Given the description of an element on the screen output the (x, y) to click on. 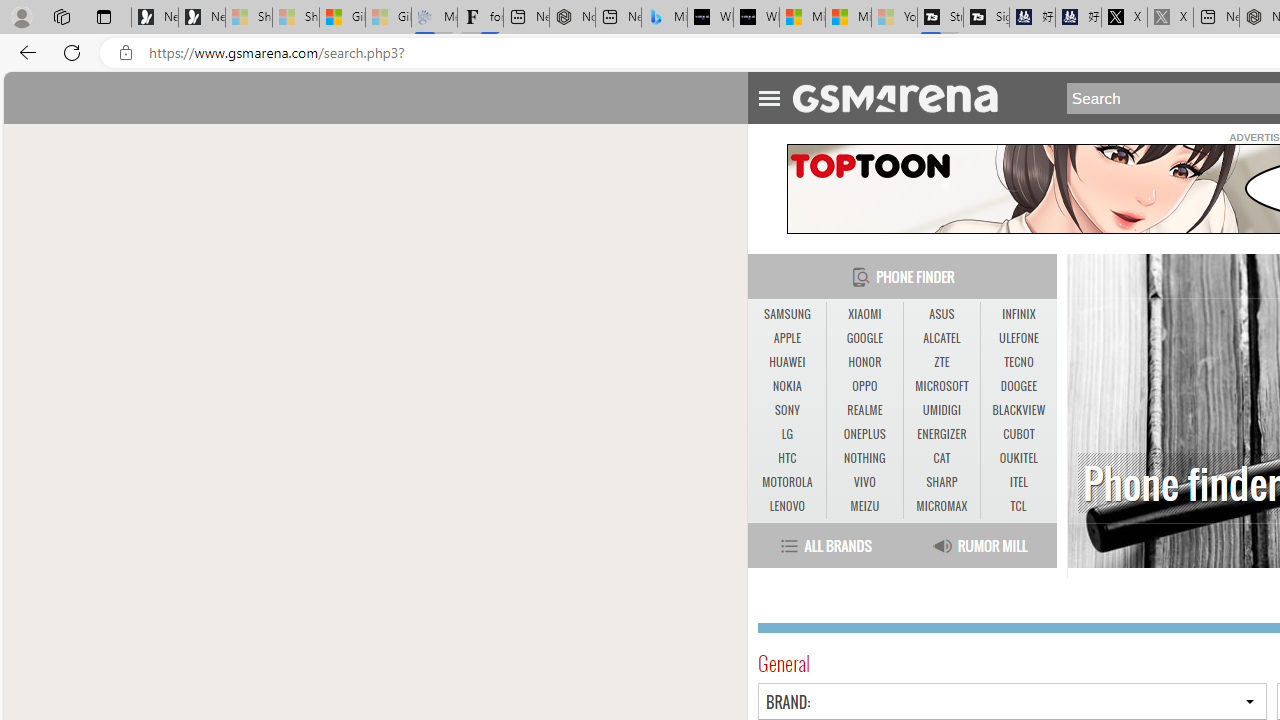
HUAWEI (786, 362)
SAMSUNG (786, 314)
Toggle Navigation (768, 95)
APPLE (786, 338)
OPPO (864, 386)
ZTE (941, 362)
VIVO (863, 482)
OUKITEL (1018, 458)
ALCATEL (941, 339)
TECNO (1018, 362)
ITEL (1018, 482)
SAMSUNG (786, 313)
